Given the description of an element on the screen output the (x, y) to click on. 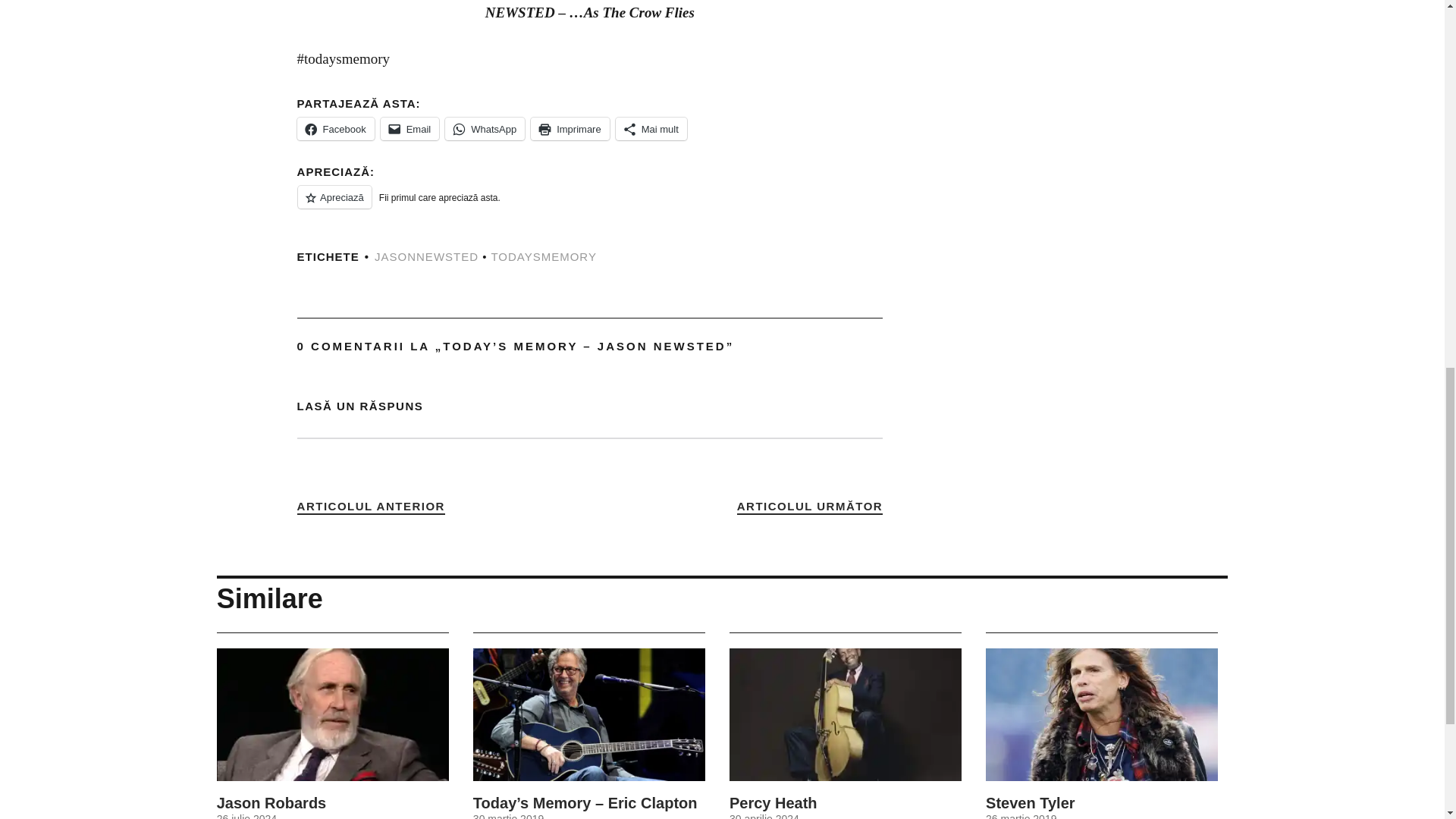
Mai mult (651, 128)
Imprimare (570, 128)
TODAYSMEMORY (543, 256)
Email (409, 128)
Facebook (335, 128)
JASONNEWSTED (426, 256)
WhatsApp (484, 128)
ARTICOLUL ANTERIOR (371, 506)
